Given the description of an element on the screen output the (x, y) to click on. 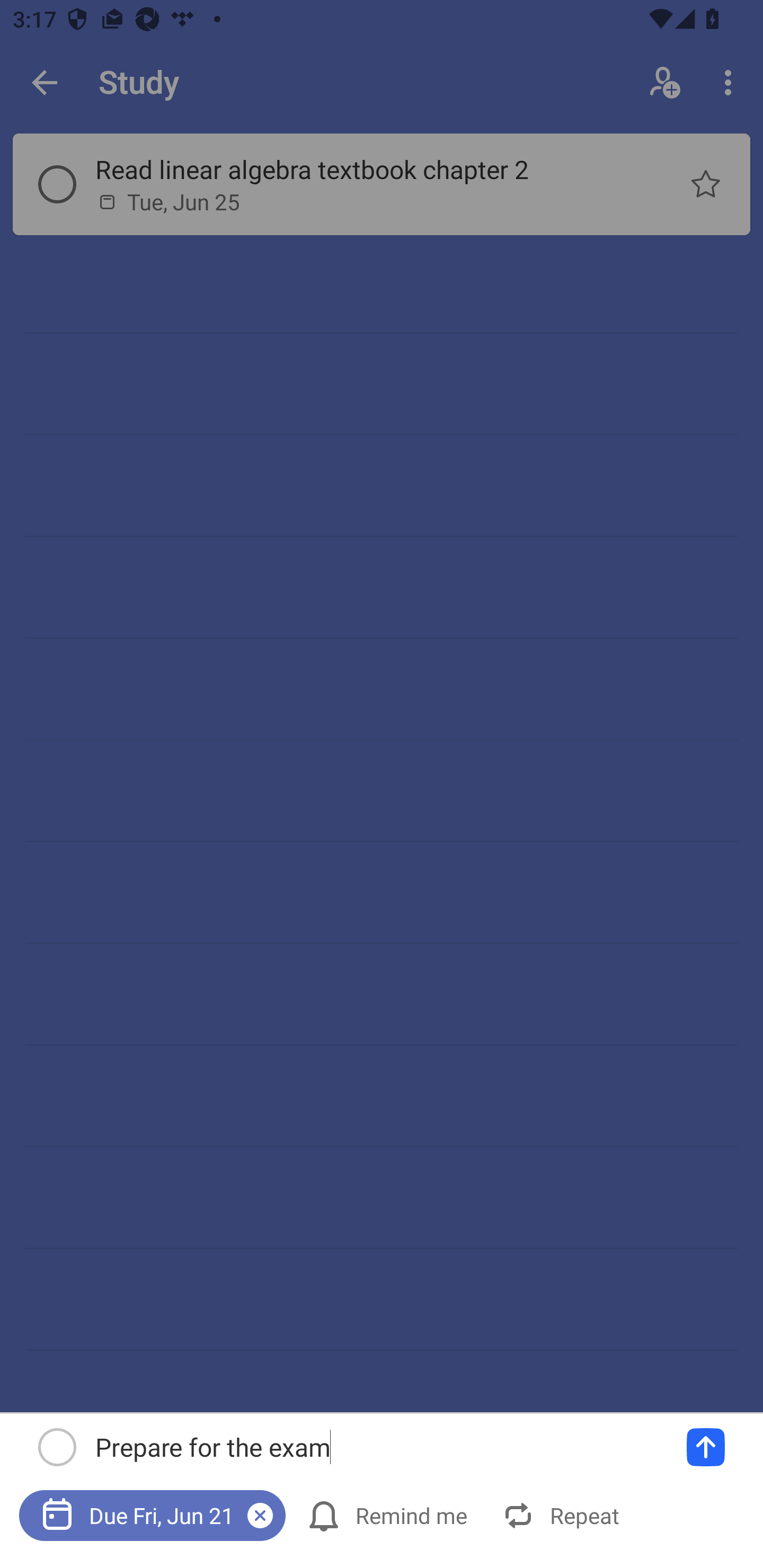
Add a task (705, 1446)
